Given the description of an element on the screen output the (x, y) to click on. 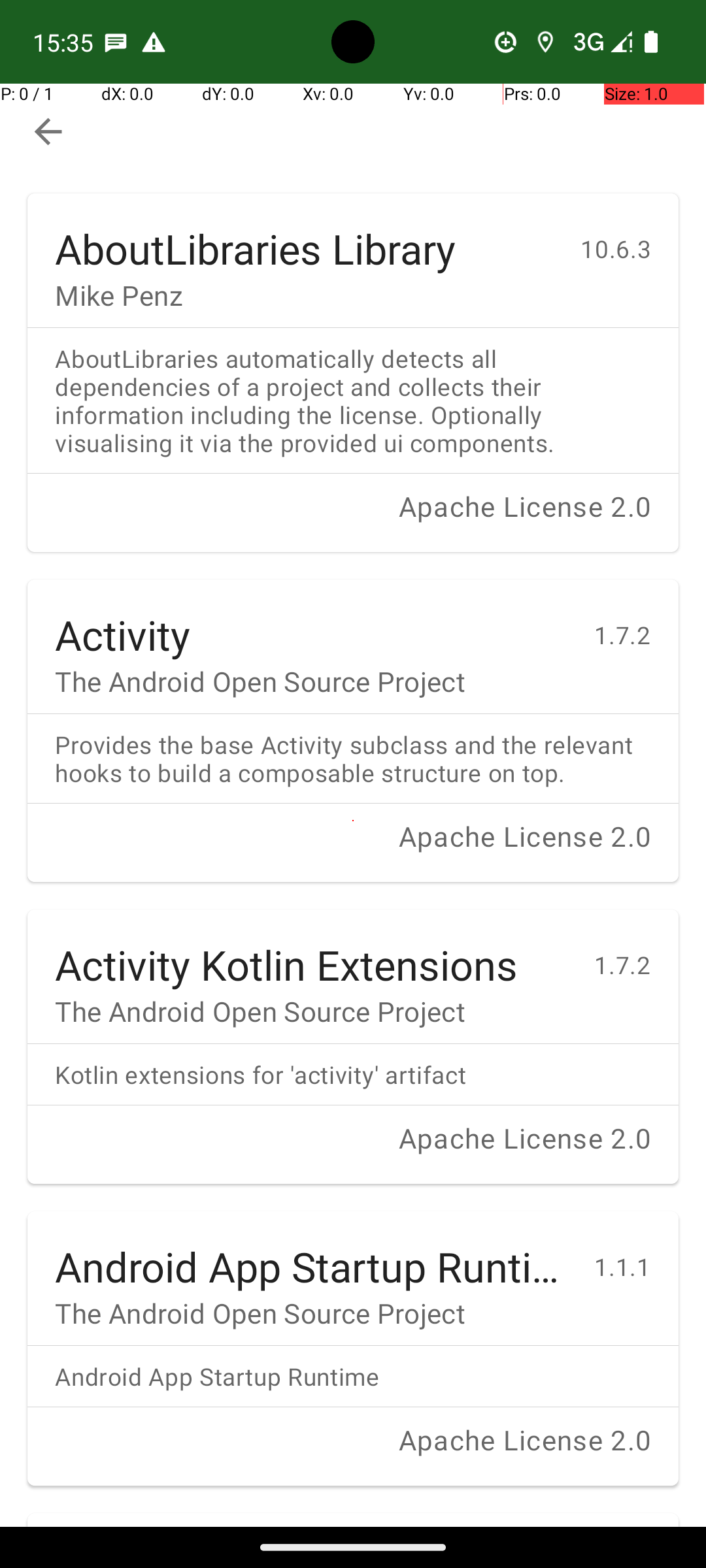
AboutLibraries Library Element type: android.widget.TextView (303, 234)
10.6.3 Element type: android.widget.TextView (629, 234)
Mike Penz Element type: android.widget.TextView (303, 294)
AboutLibraries automatically detects all dependencies of a project and collects their information including the license. Optionally visualising it via the provided ui components. Element type: android.widget.TextView (352, 400)
Apache License 2.0 Element type: android.widget.TextView (352, 519)
Activity Element type: android.widget.TextView (310, 620)
1.7.2 Element type: android.widget.TextView (636, 620)
The Android Open Source Project Element type: android.widget.TextView (310, 680)
Provides the base Activity subclass and the relevant hooks to build a composable structure on top. Element type: android.widget.TextView (352, 758)
Activity Kotlin Extensions Element type: android.widget.TextView (310, 950)
Kotlin extensions for 'activity' artifact Element type: android.widget.TextView (352, 1074)
Android App Startup Runtime Element type: android.widget.TextView (310, 1252)
1.1.1 Element type: android.widget.TextView (636, 1252)
Android AppCompat Library Element type: android.widget.TextView (310, 1519)
1.6.1 Element type: android.widget.TextView (636, 1525)
